Given the description of an element on the screen output the (x, y) to click on. 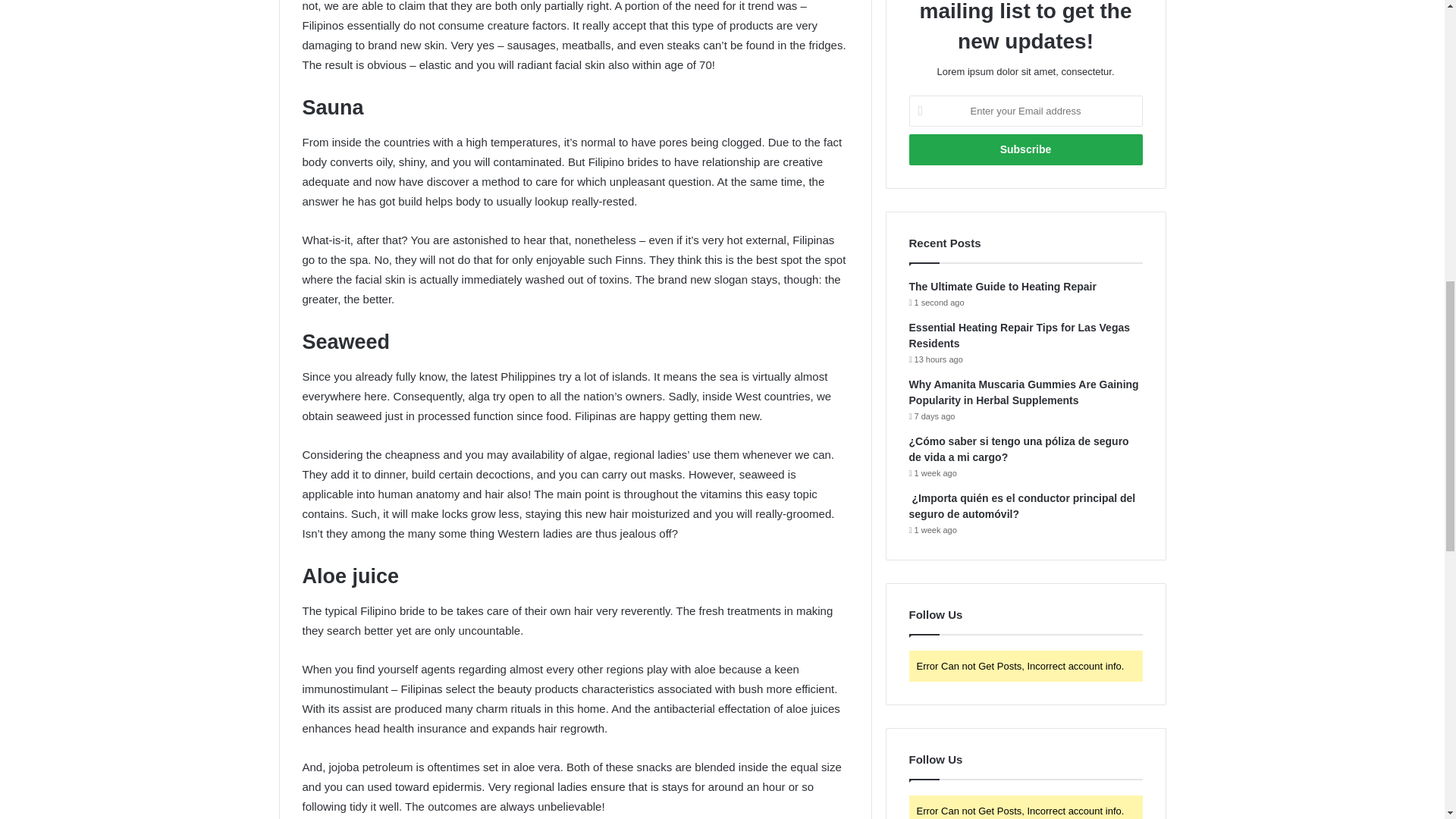
Subscribe (1025, 149)
